Given the description of an element on the screen output the (x, y) to click on. 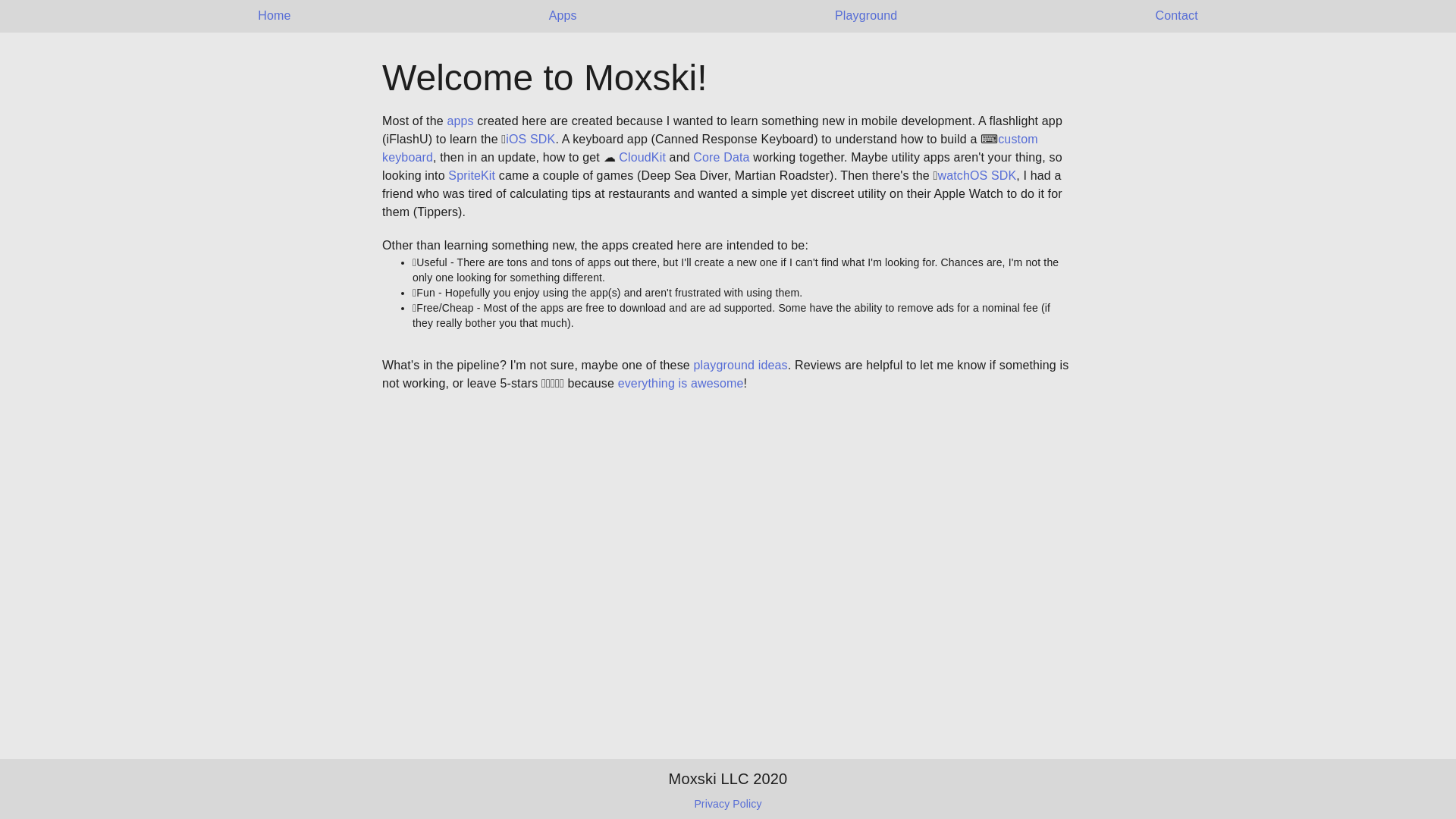
Privacy Policy (727, 803)
custom keyboard (709, 147)
Core Data (721, 156)
CloudKit (641, 156)
Home (273, 16)
iOS SDK (529, 138)
Contact (1177, 16)
watchOS SDK (976, 174)
playground ideas (740, 364)
everything is awesome (680, 382)
SpriteKit (471, 174)
Playground (865, 16)
apps (459, 120)
Apps (562, 16)
